Given the description of an element on the screen output the (x, y) to click on. 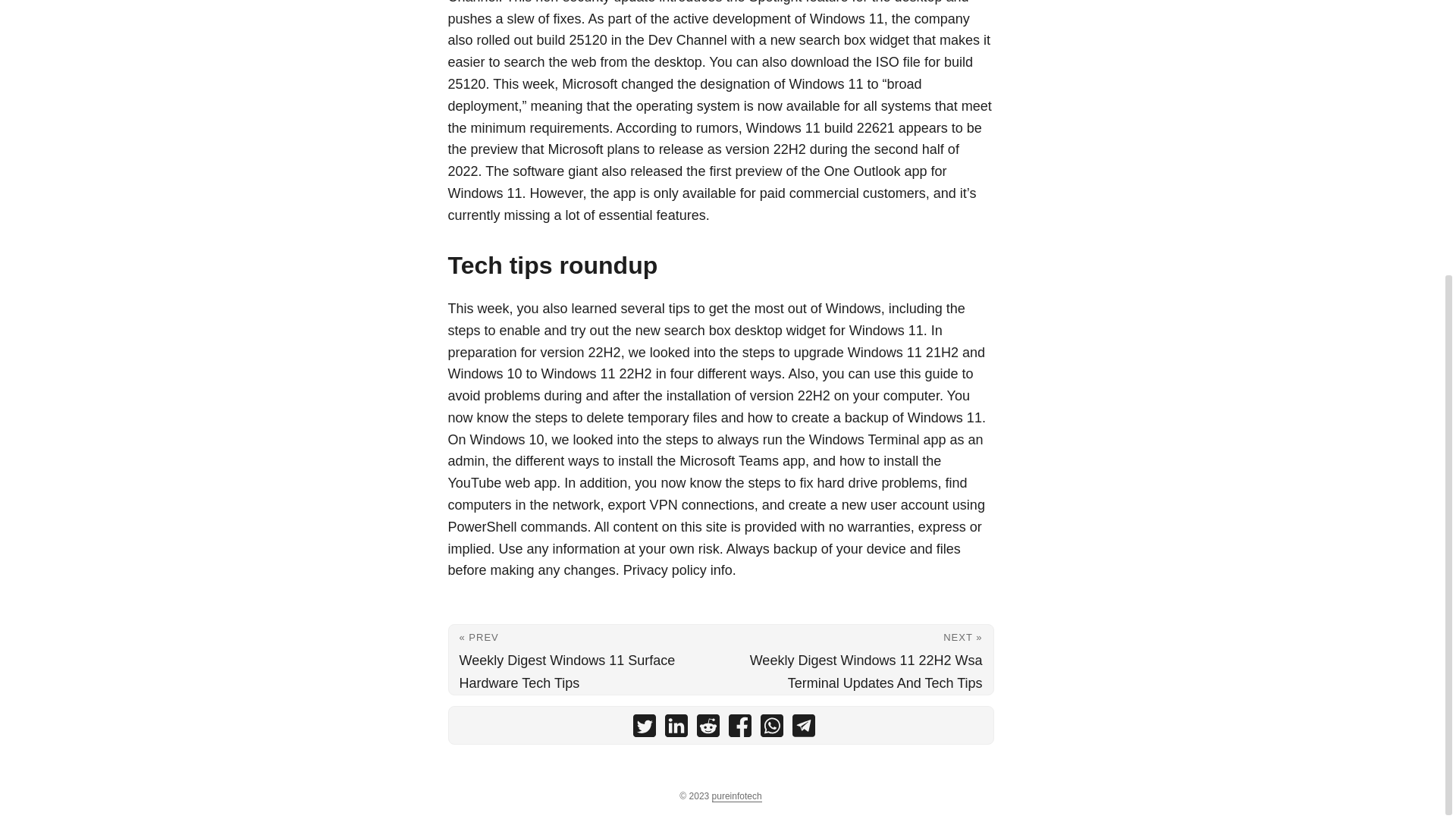
pureinfotech (736, 796)
